Given the description of an element on the screen output the (x, y) to click on. 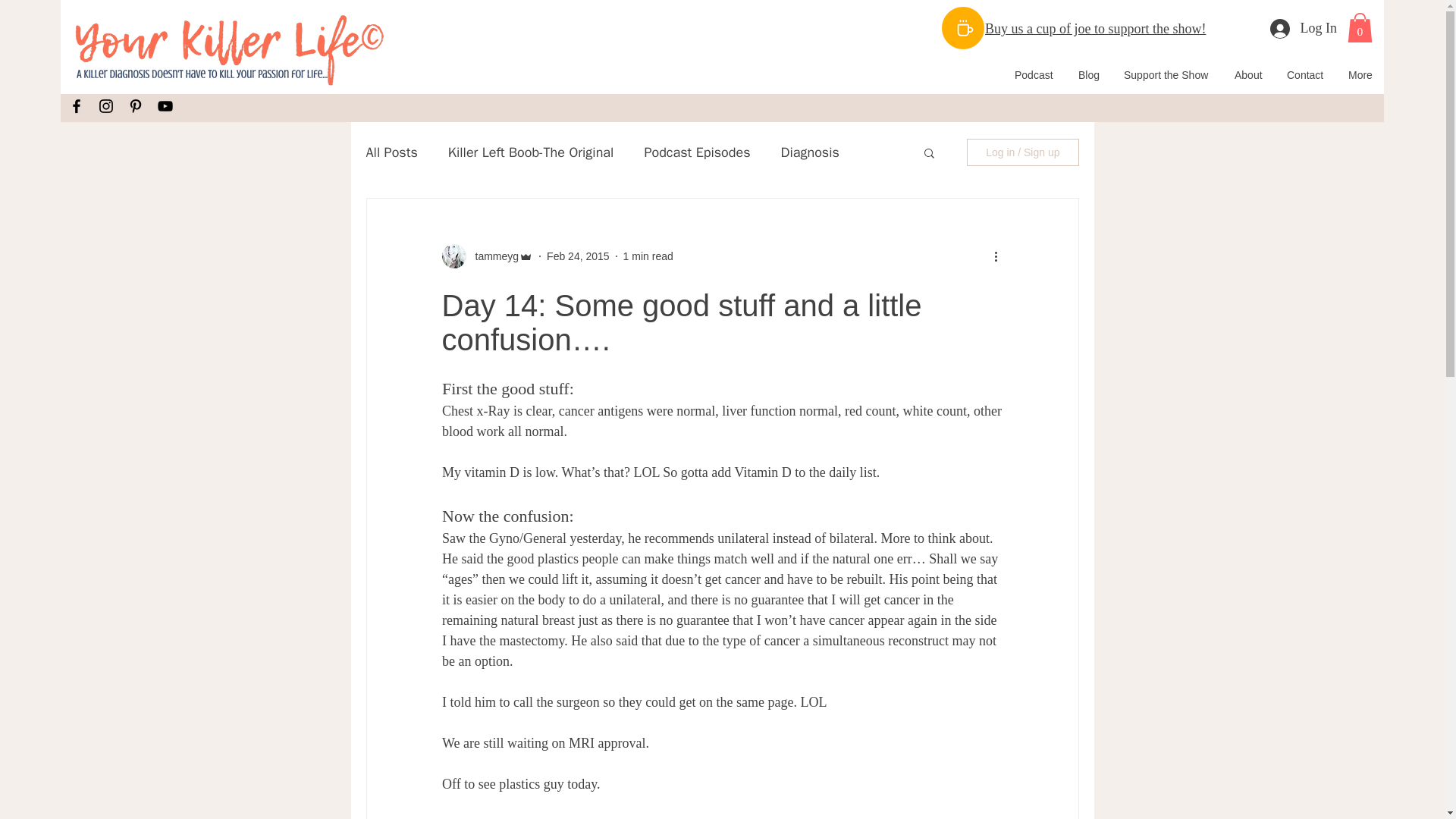
0 (1360, 27)
tammeyg (491, 256)
Buy us a cup of joe to support the show! (1095, 28)
About (1249, 75)
Feb 24, 2015 (578, 256)
All Posts (390, 152)
Podcast Episodes (696, 152)
Log In (1303, 27)
Blog (1088, 75)
tammeyg (486, 256)
Contact (1305, 75)
Support the Show (1167, 75)
Killer Left Boob-The Original (531, 152)
Diagnosis (810, 152)
0 (1360, 27)
